Given the description of an element on the screen output the (x, y) to click on. 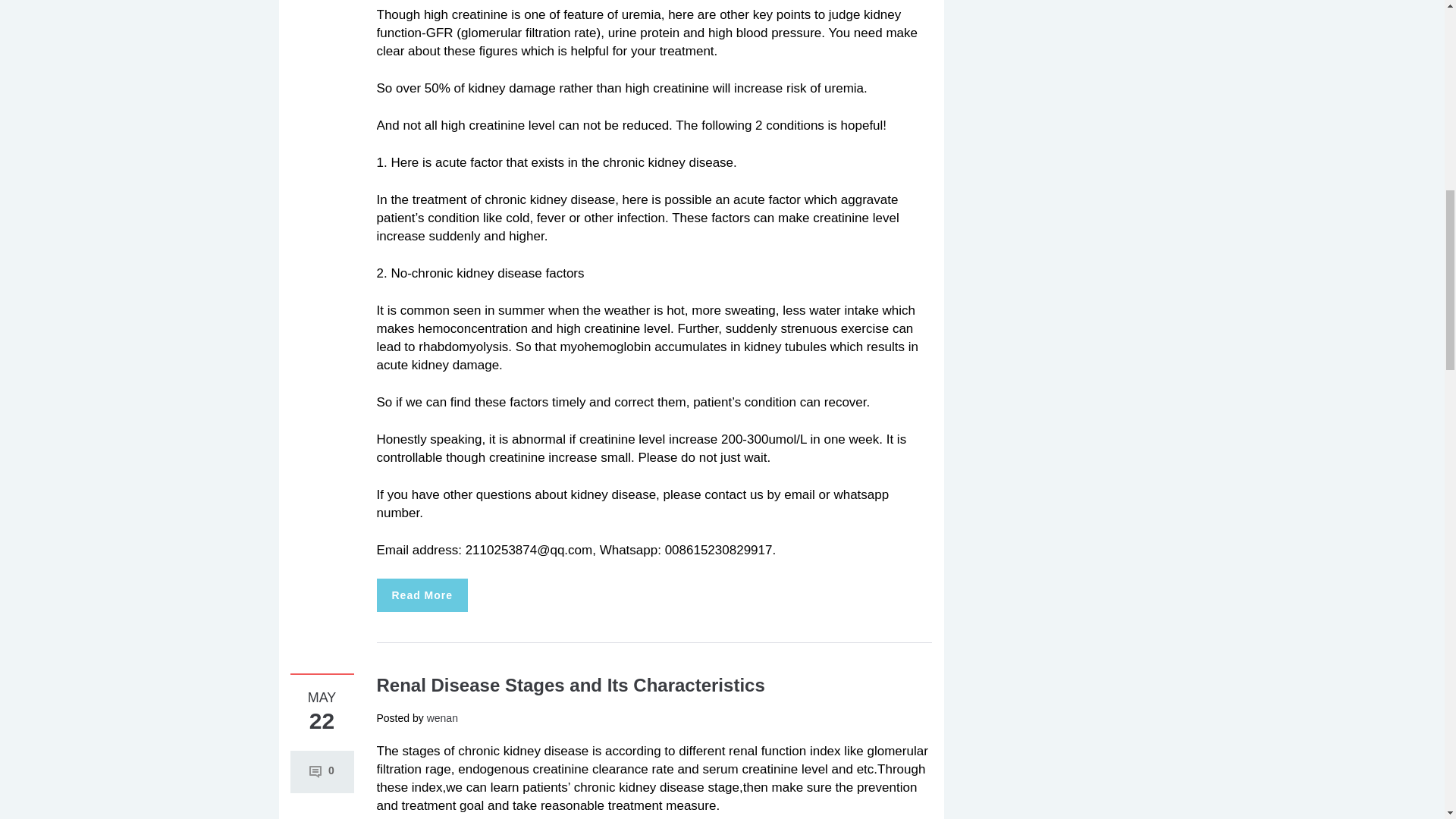
wenan (442, 717)
0 (321, 770)
View all posts by wenan (442, 717)
Renal Disease Stages and Its Characteristics (569, 684)
Read More (421, 594)
